Given the description of an element on the screen output the (x, y) to click on. 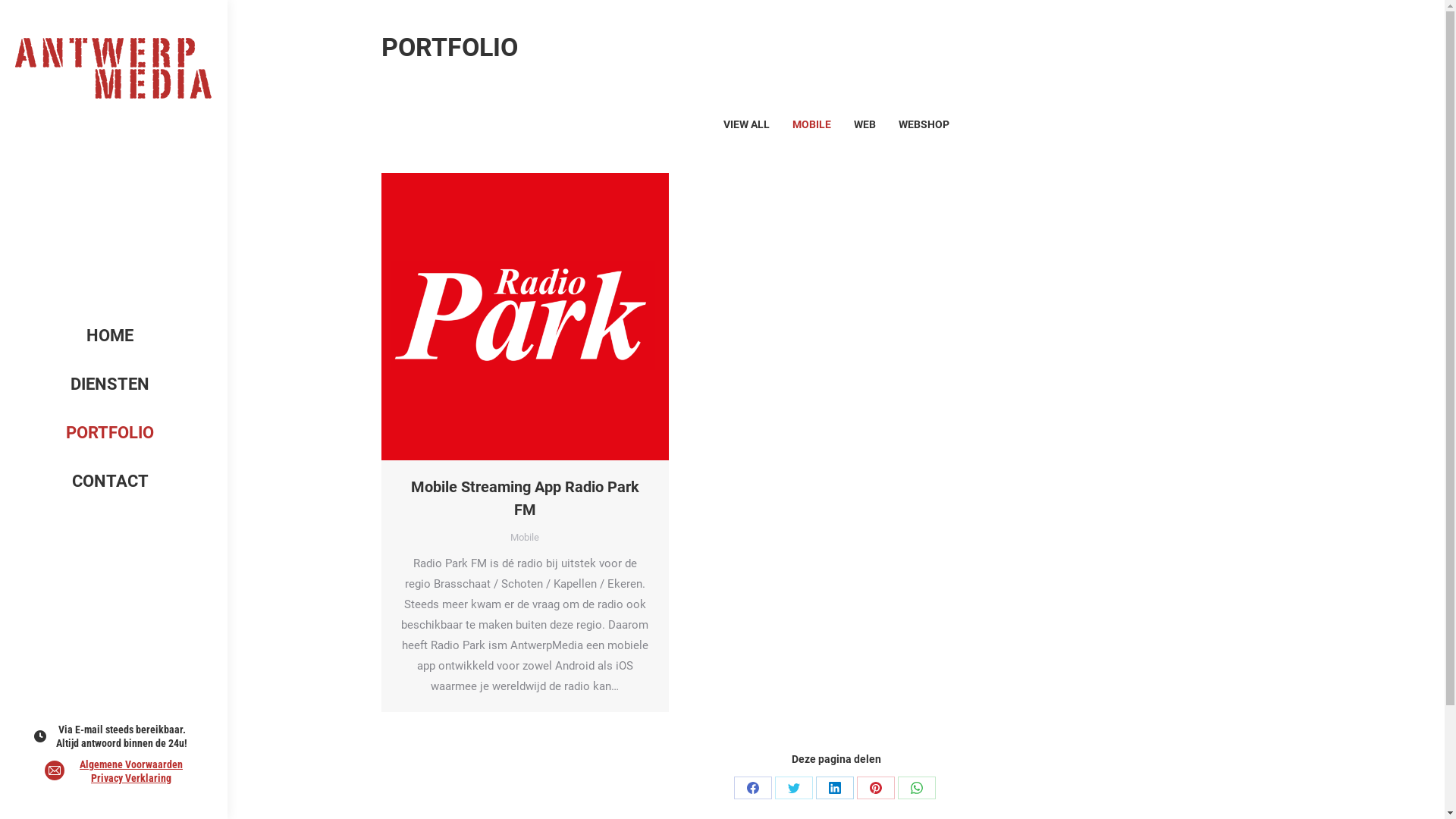
HOME Element type: text (109, 335)
46831374_2328173130746787_3048628465998757888_o Element type: hover (524, 316)
MOBILE Element type: text (810, 123)
Share on Pinterest Element type: text (875, 787)
Mobile Element type: text (524, 536)
PORTFOLIO Element type: text (109, 432)
Share on Facebook Element type: text (752, 787)
Mobile Streaming App Radio Park FM Element type: text (525, 497)
Share on WhatsApp Element type: text (916, 787)
WEB Element type: text (864, 123)
WEBSHOP Element type: text (922, 123)
VIEW ALL Element type: text (746, 123)
DIENSTEN Element type: text (109, 383)
Privacy Verklaring Element type: text (131, 777)
Mail page opens in new window Element type: text (54, 769)
Algemene Voorwaarden Element type: text (130, 764)
CONTACT Element type: text (109, 480)
Share on LinkedIn Element type: text (834, 787)
Share on Twitter Element type: text (793, 787)
